Given the description of an element on the screen output the (x, y) to click on. 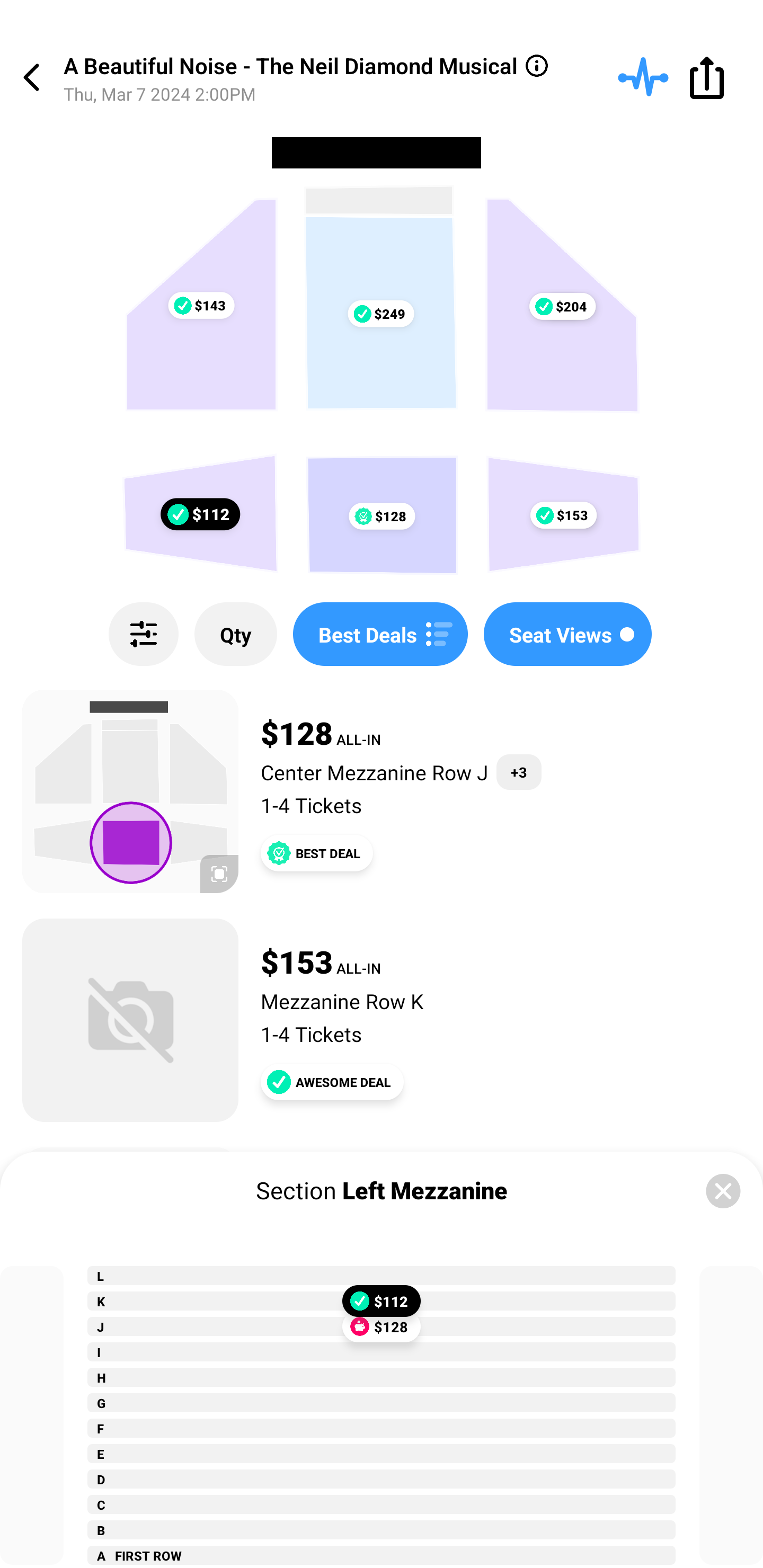
$112 (381, 1300)
$128 (381, 1326)
